Given the description of an element on the screen output the (x, y) to click on. 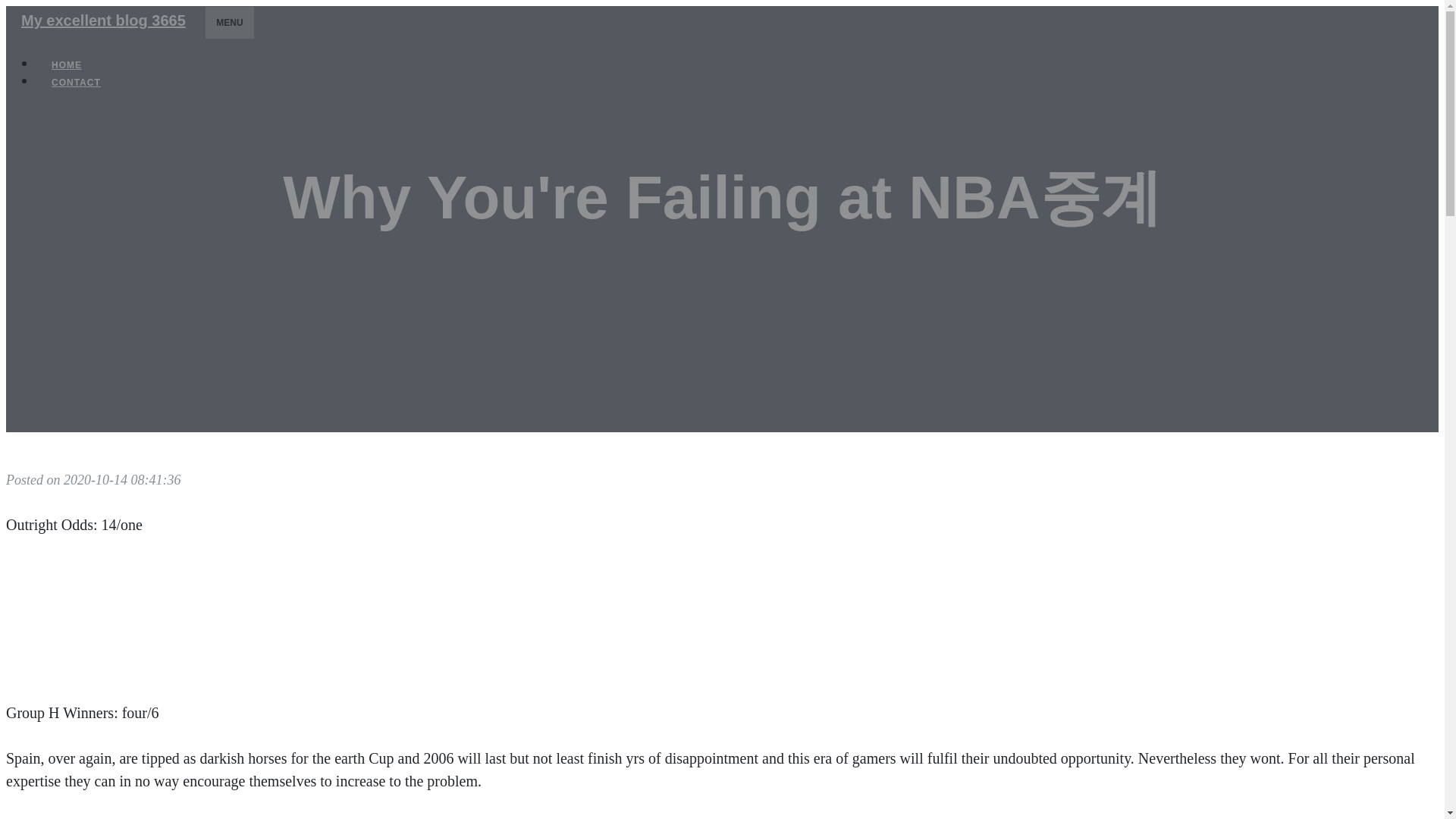
CONTACT (76, 82)
MENU (229, 22)
My excellent blog 3665 (102, 20)
HOME (66, 64)
